Given the description of an element on the screen output the (x, y) to click on. 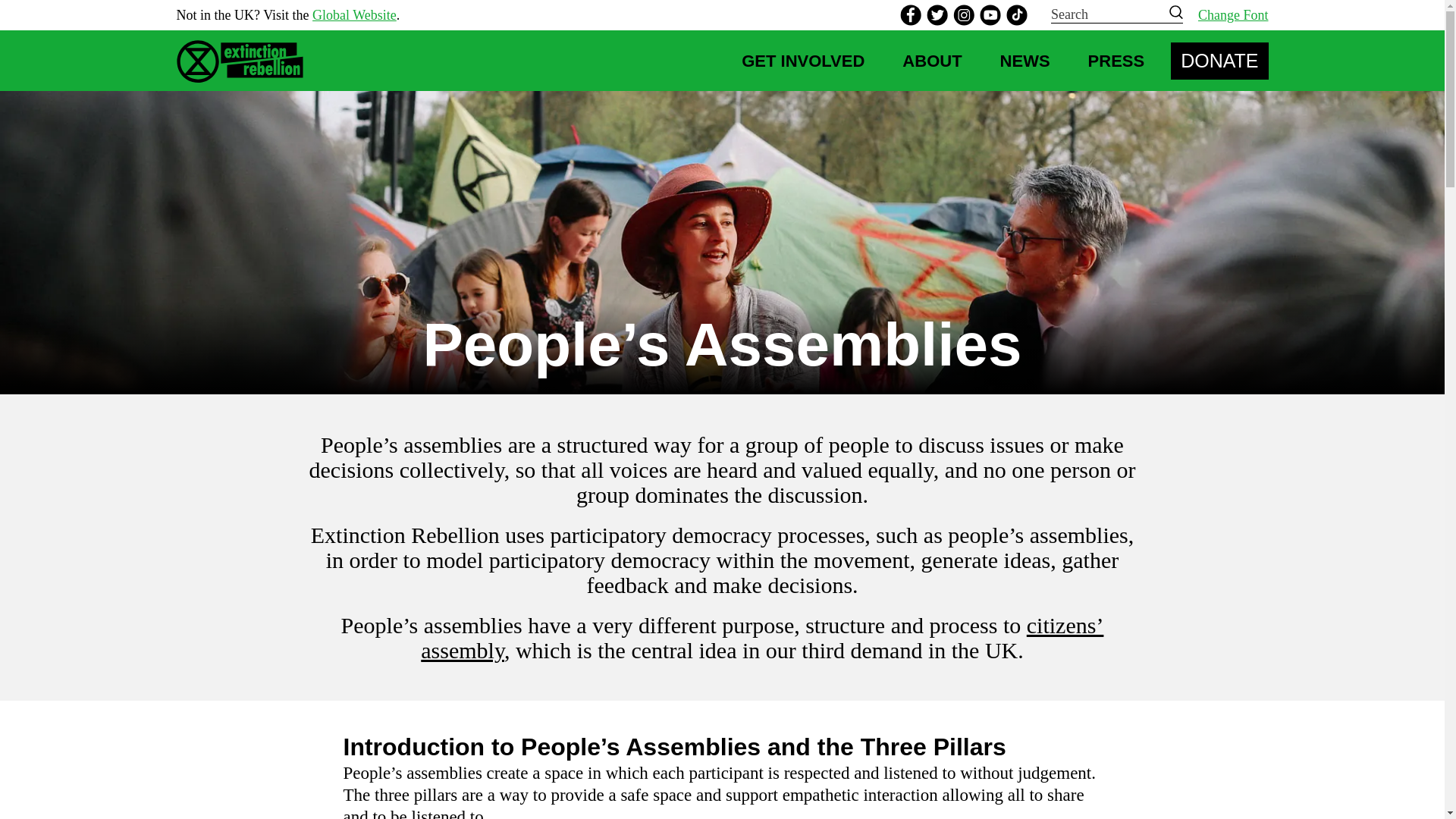
Extinction Rebellion logo (244, 61)
Global Website (354, 14)
